Given the description of an element on the screen output the (x, y) to click on. 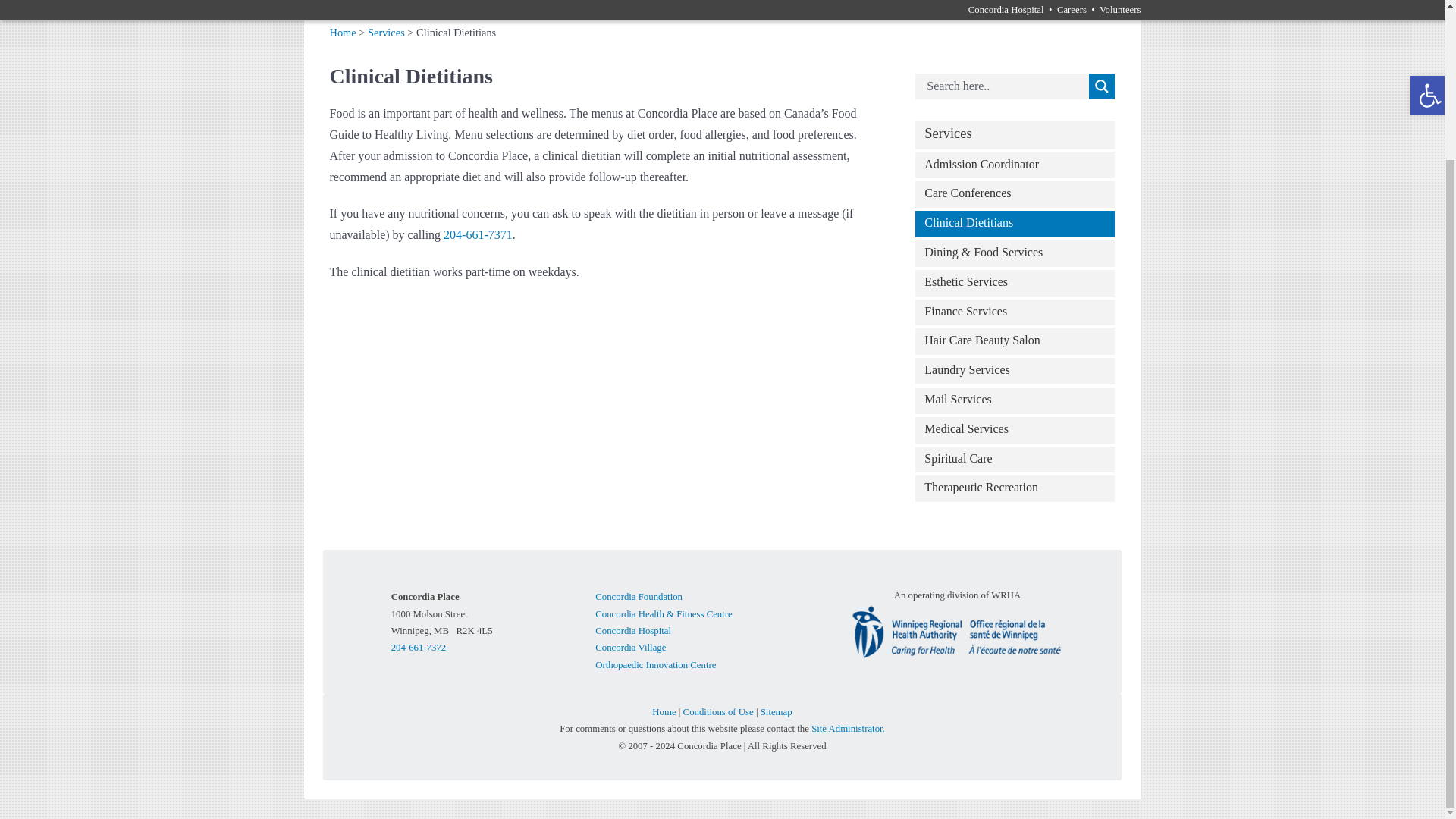
Go to Concordia Place. (342, 32)
Go to Services. (386, 32)
Concordia Hospital is an operating division of WRHA (956, 631)
